Given the description of an element on the screen output the (x, y) to click on. 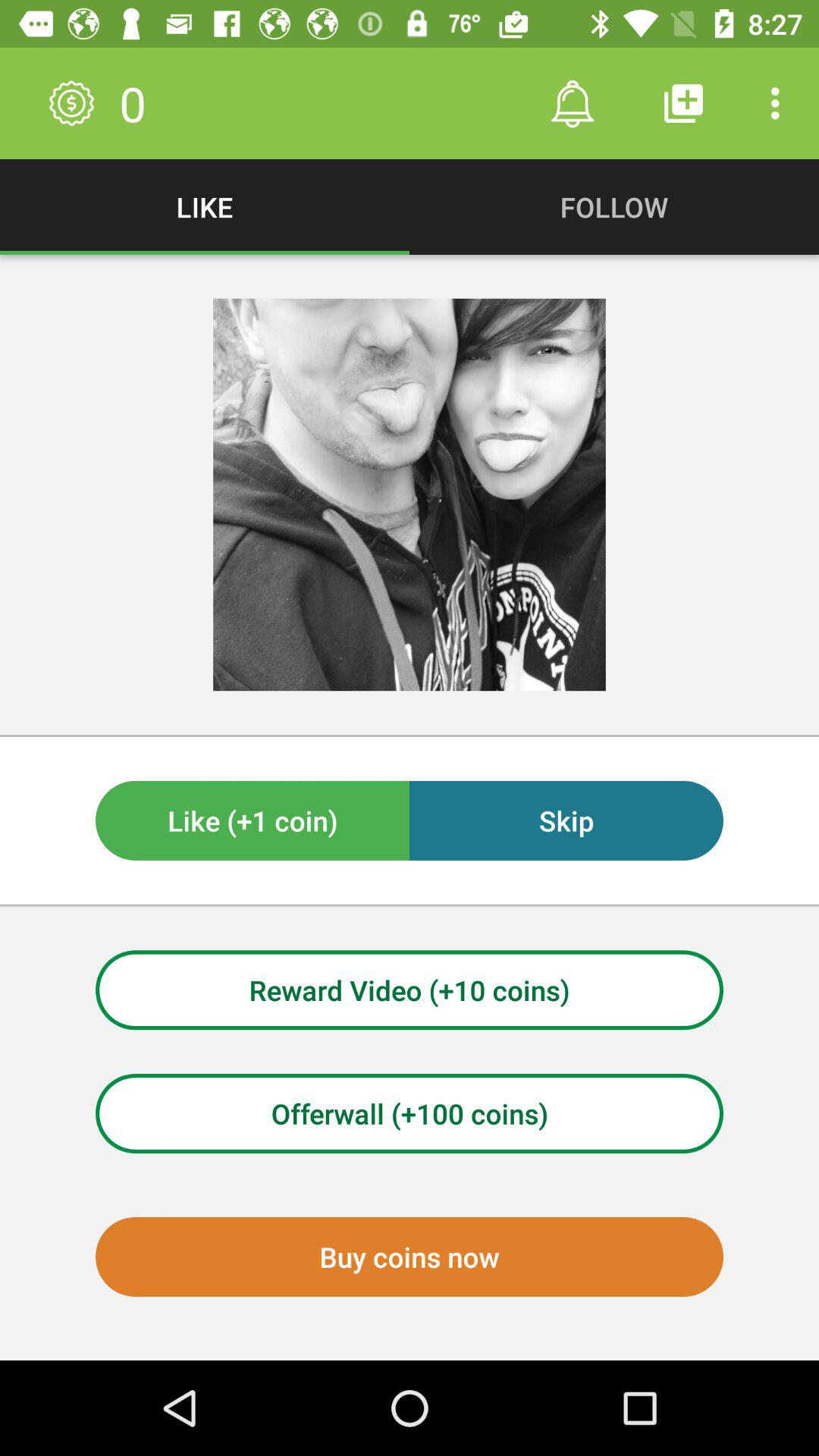
swipe to the buy coins now (409, 1256)
